Given the description of an element on the screen output the (x, y) to click on. 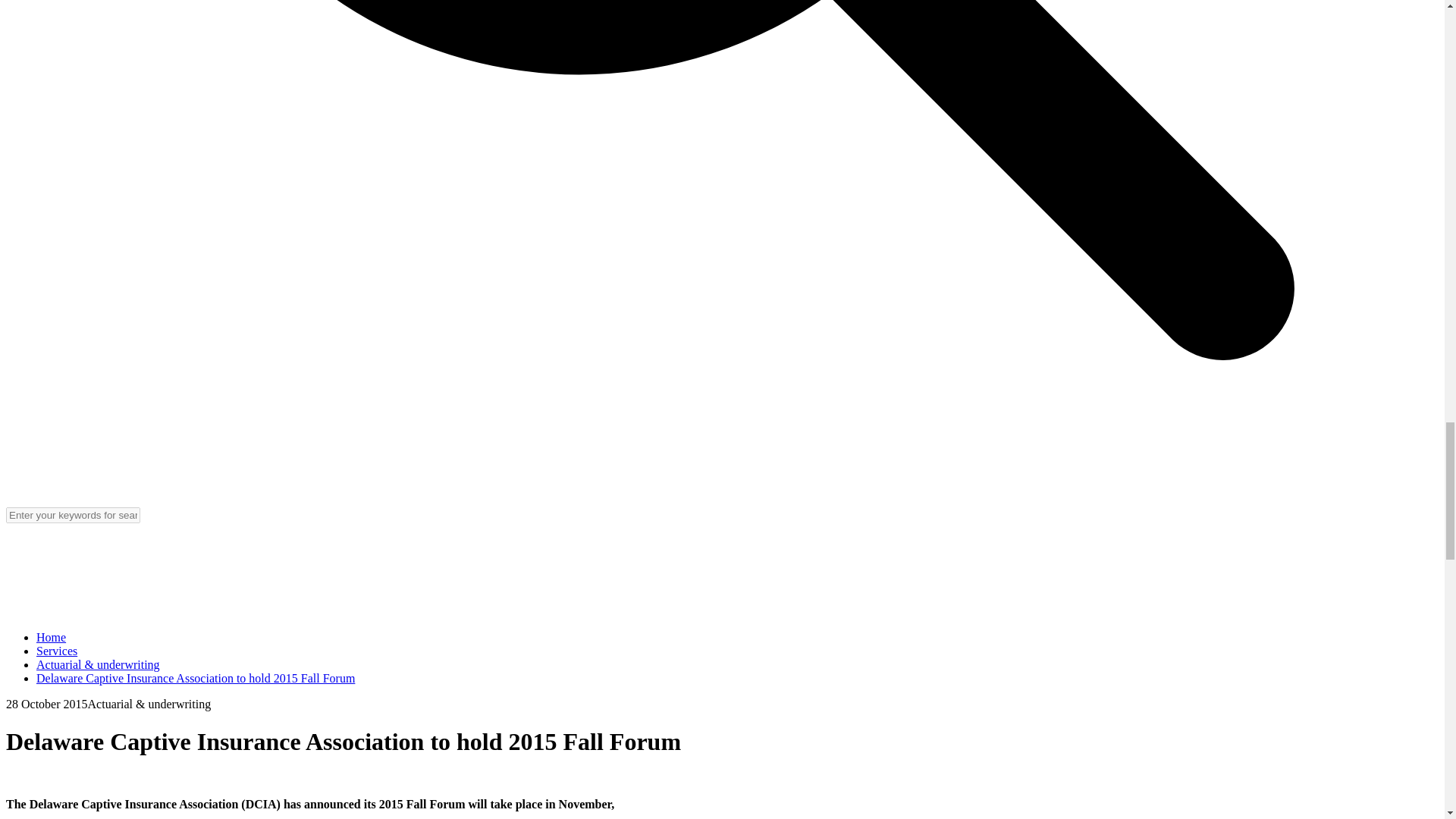
Home (50, 636)
Services (56, 650)
